Given the description of an element on the screen output the (x, y) to click on. 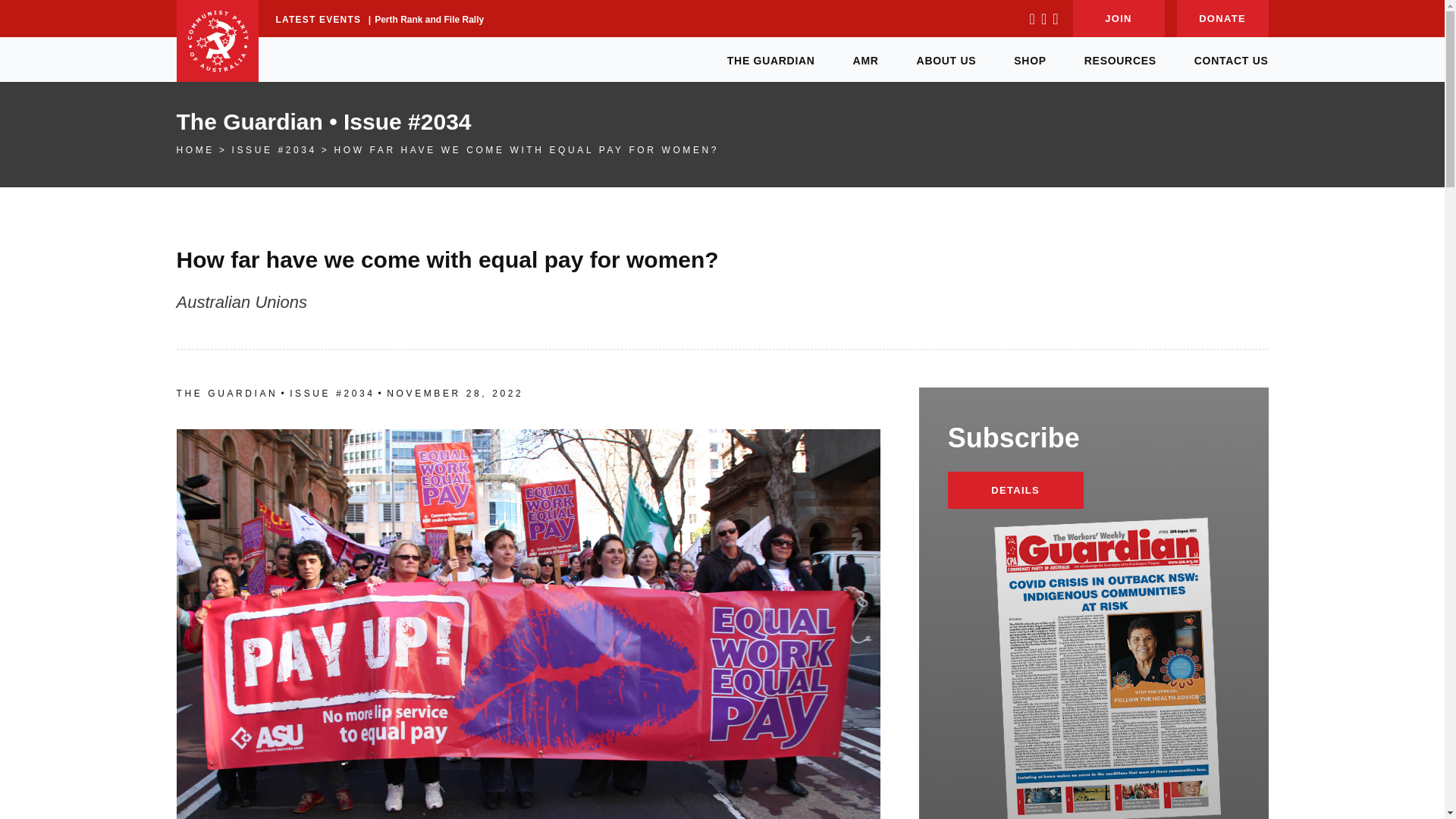
DONATE (1222, 18)
Perth Rank and File Rally (428, 19)
JOIN (1117, 18)
ABOUT US (946, 58)
RESOURCES (1120, 58)
THE GUARDIAN (770, 58)
